Given the description of an element on the screen output the (x, y) to click on. 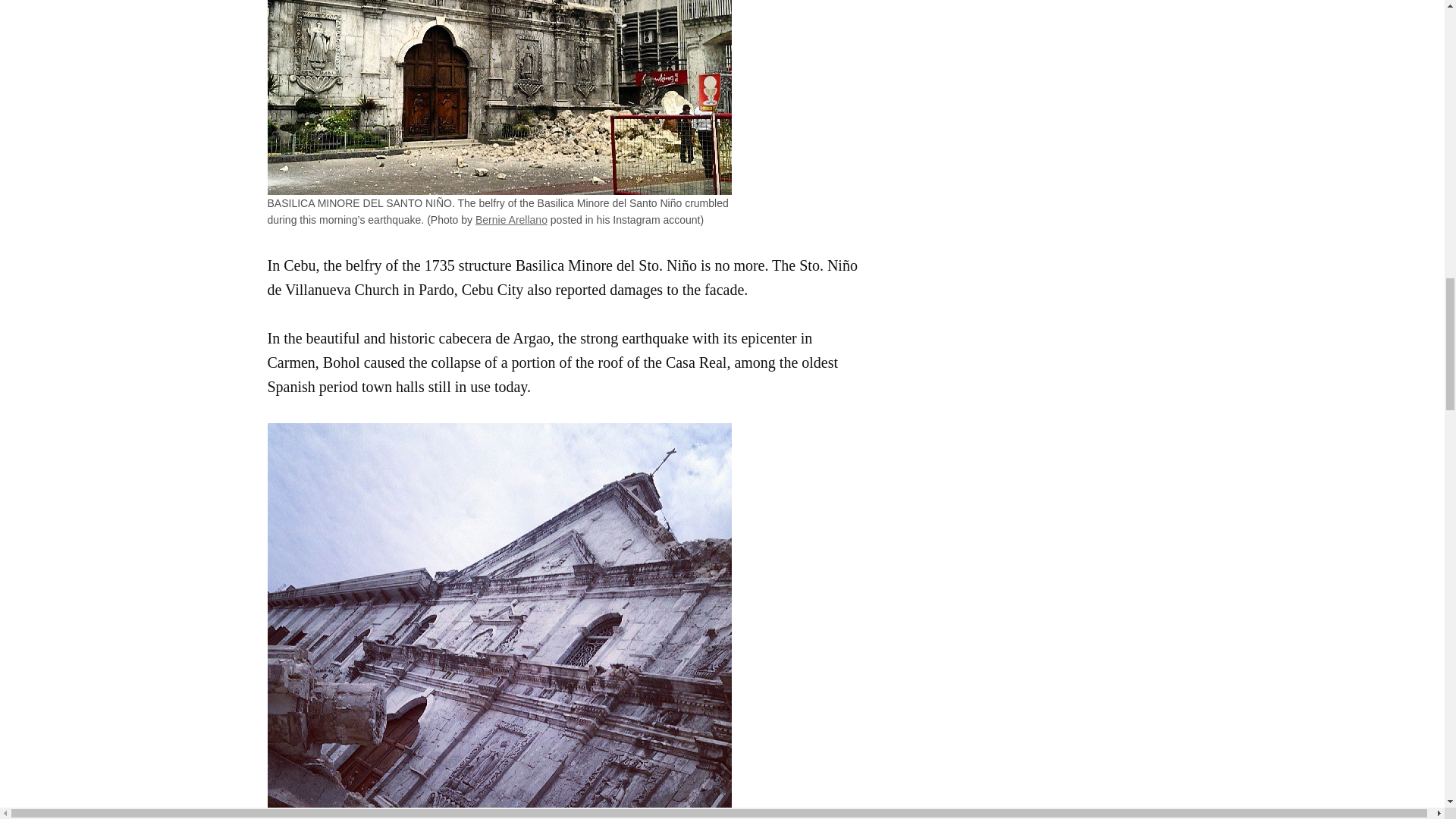
Bernie Arellano (511, 219)
